Given the description of an element on the screen output the (x, y) to click on. 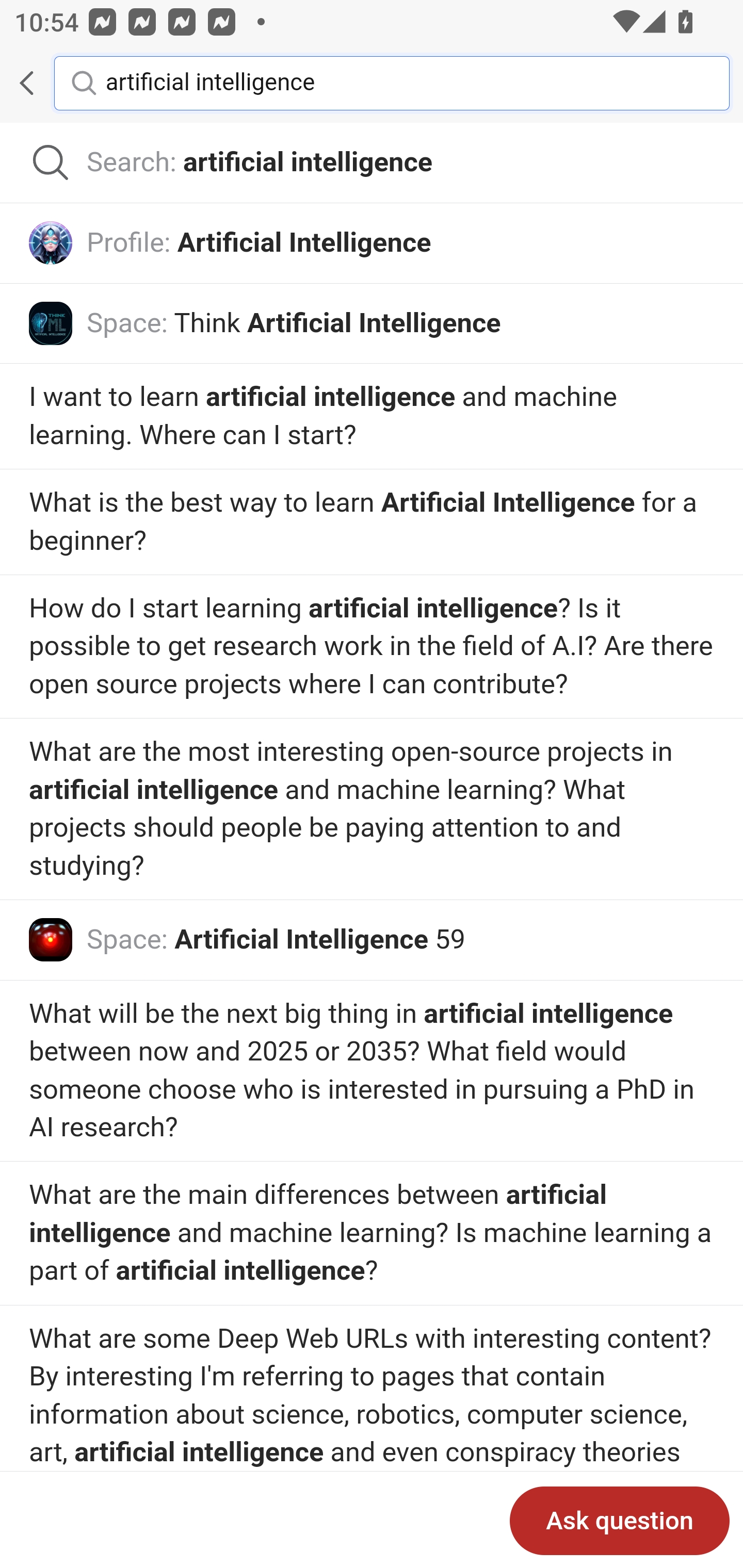
Me Home Search Add (371, 82)
artificial intelligence (402, 82)
Search: ar (371, 162)
Profile photo for Artificial Intelligence (50, 241)
Icon for Think Artificial Intelligence (50, 322)
Icon for Artificial Intelligence 59 (50, 939)
What are some great mind-blowing books? Why? (371, 1233)
